Given the description of an element on the screen output the (x, y) to click on. 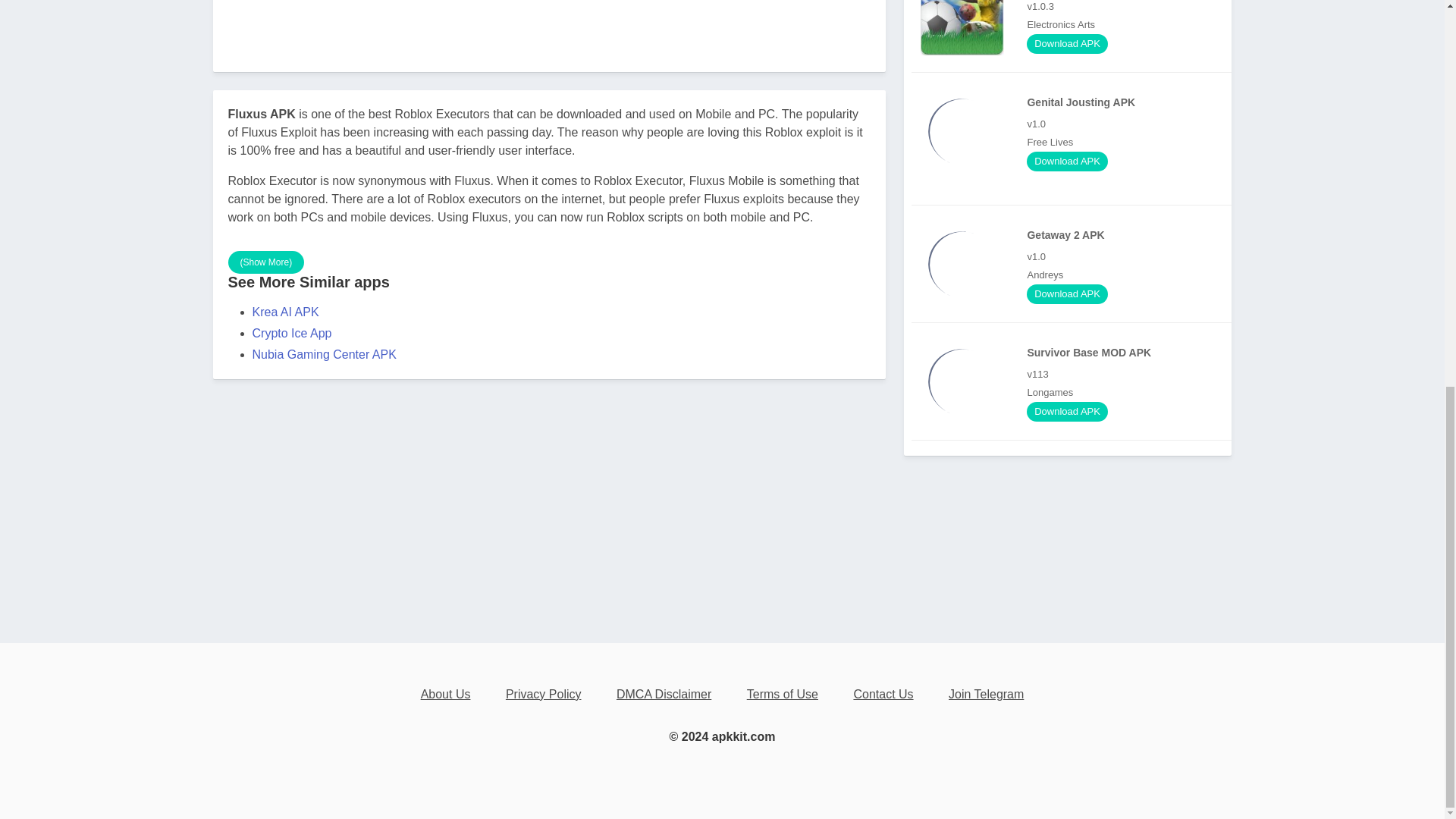
Krea AI APK (284, 310)
Crypto Ice App (291, 332)
Nubia Gaming Center APK (323, 353)
Advertisement (548, 20)
